Given the description of an element on the screen output the (x, y) to click on. 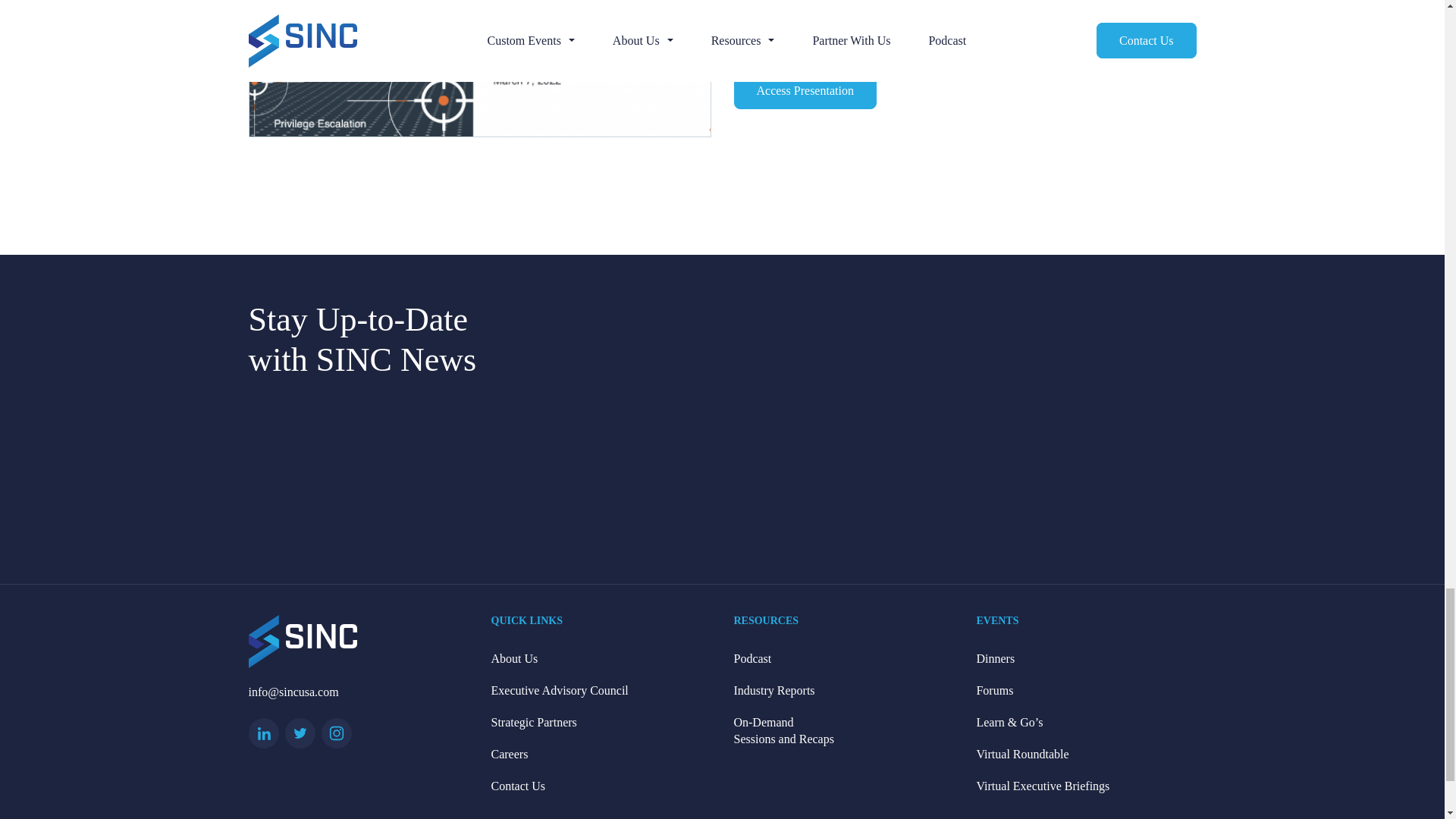
Strategic Partners (601, 722)
Access Presentation (804, 90)
About Us (601, 658)
Executive Advisory Council (601, 690)
